Given the description of an element on the screen output the (x, y) to click on. 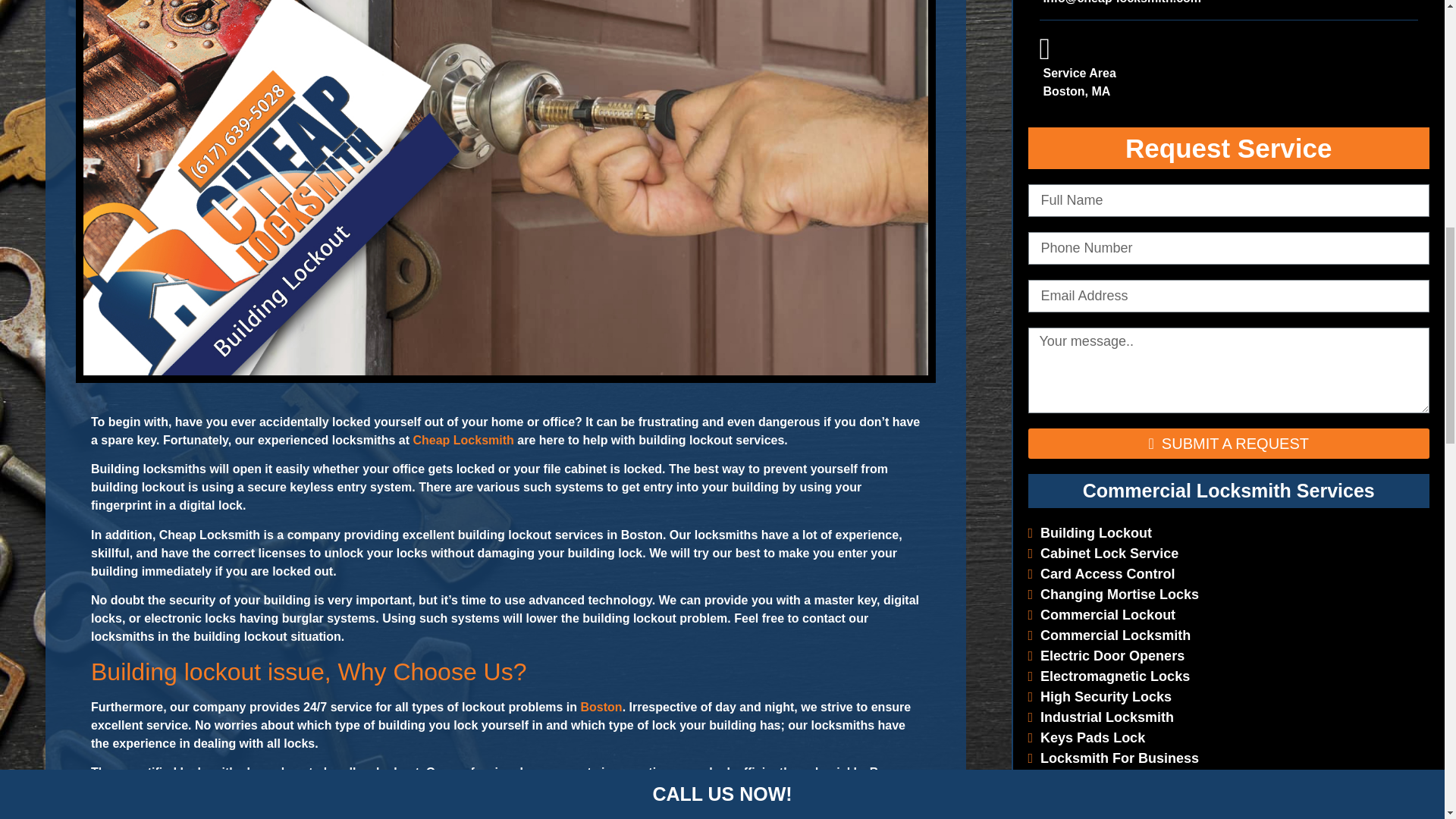
Office Locksmith (1089, 798)
Master Key Service (1096, 778)
SUBMIT A REQUEST (1228, 443)
Cheap Locksmith (462, 440)
Changing Mortise Locks (1113, 594)
Cabinet Lock Service (1103, 553)
Commercial Lockout (1101, 614)
Industrial Locksmith (1100, 717)
Electric Door Openers (1106, 655)
Locksmith For Business (1113, 758)
Building Lockout (1090, 532)
Electromagnetic Locks (1109, 676)
Commercial Locksmith (1109, 635)
Panic Bar (1065, 815)
High Security Locks (1099, 696)
